Given the description of an element on the screen output the (x, y) to click on. 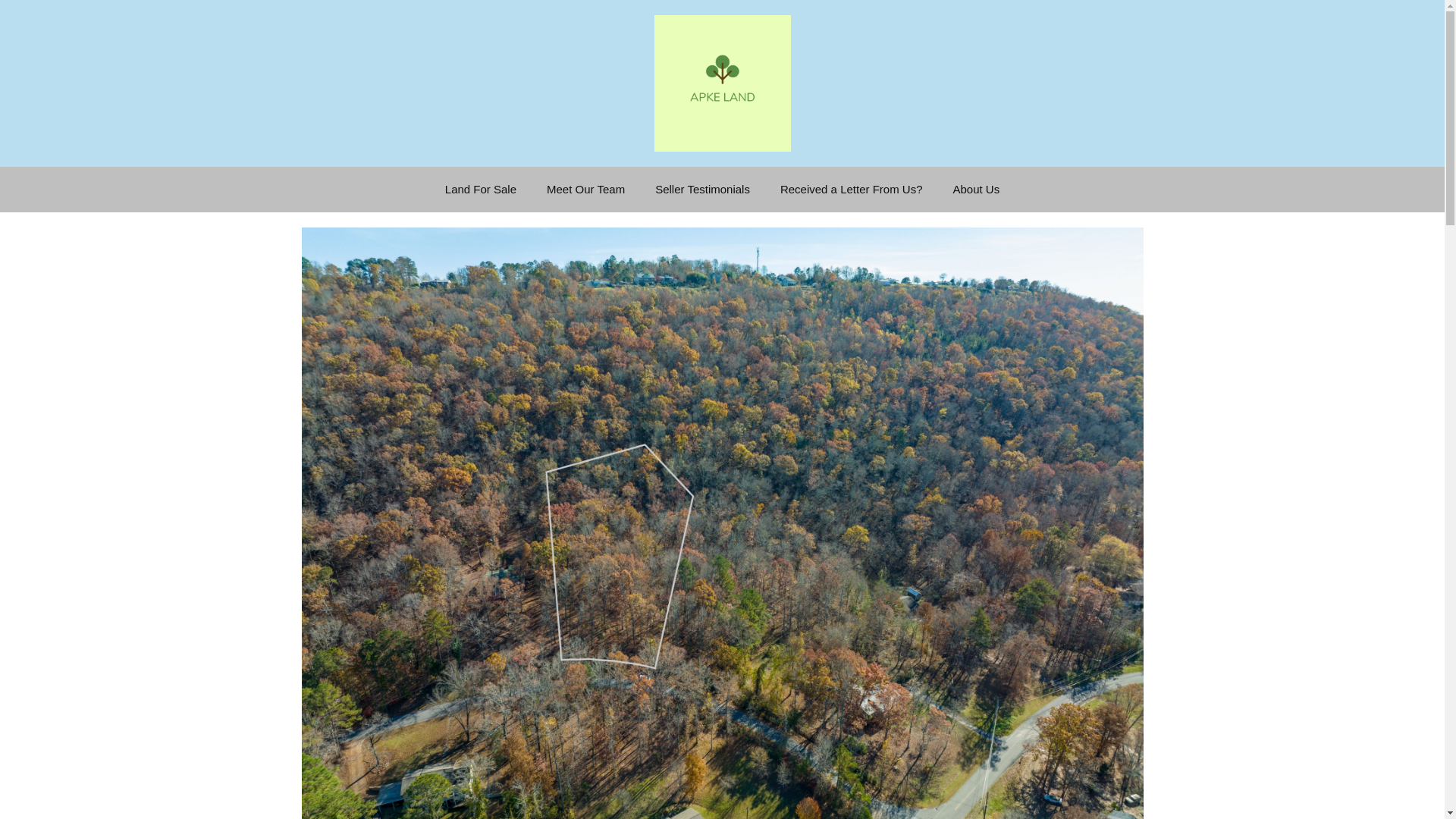
Meet Our Team (585, 189)
Seller Testimonials (702, 189)
About Us (975, 189)
Apke Land (721, 83)
Land For Sale (480, 189)
Apke Land (721, 82)
Received a Letter From Us? (851, 189)
